Given the description of an element on the screen output the (x, y) to click on. 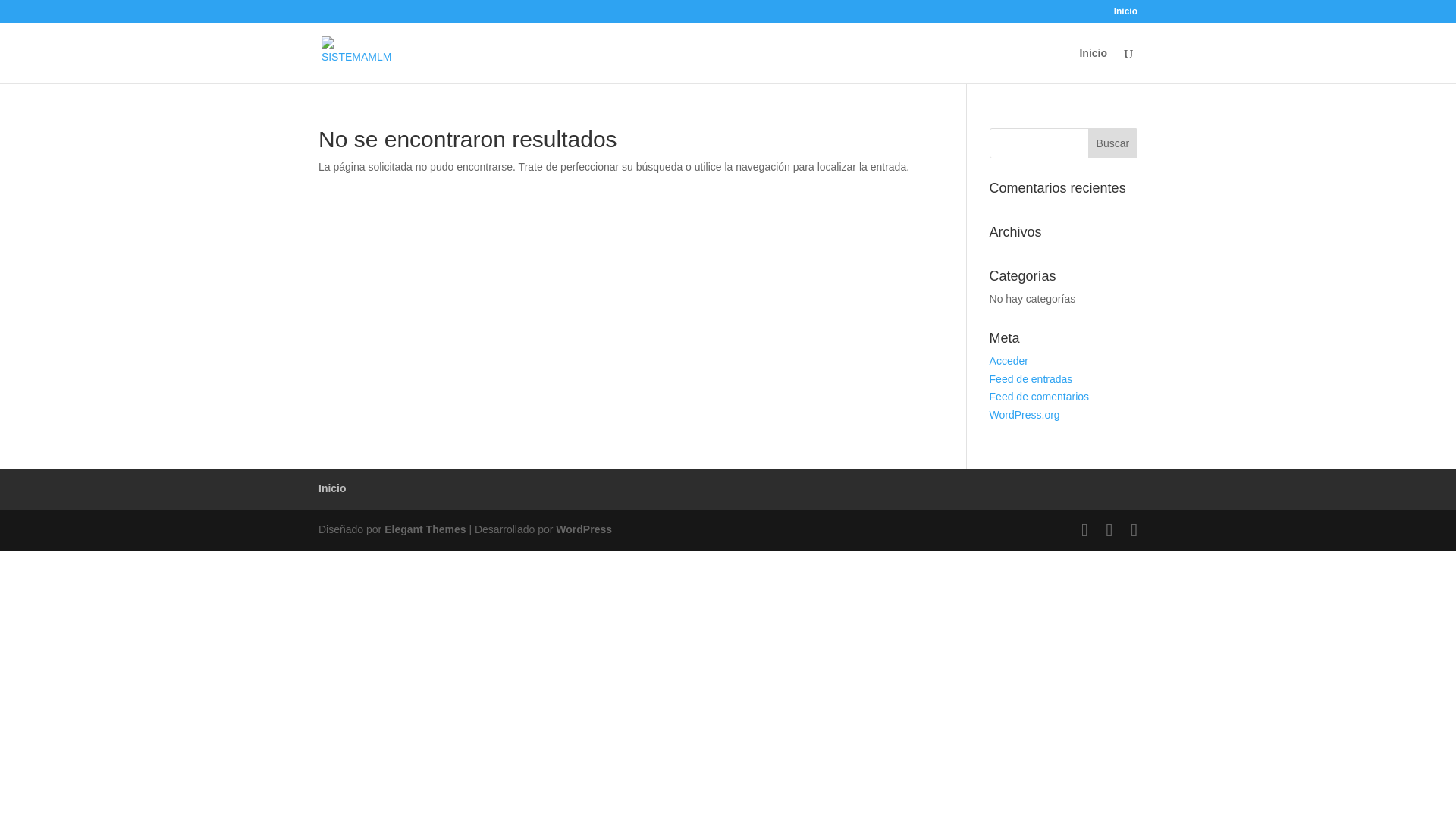
Acceder (1008, 360)
Inicio (332, 488)
Elegant Themes (424, 529)
WordPress (583, 529)
Inicio (1125, 14)
Buscar (1112, 142)
Feed de comentarios (1039, 396)
Feed de entradas (1031, 378)
Buscar (1112, 142)
Premium WordPress Themes (424, 529)
